Given the description of an element on the screen output the (x, y) to click on. 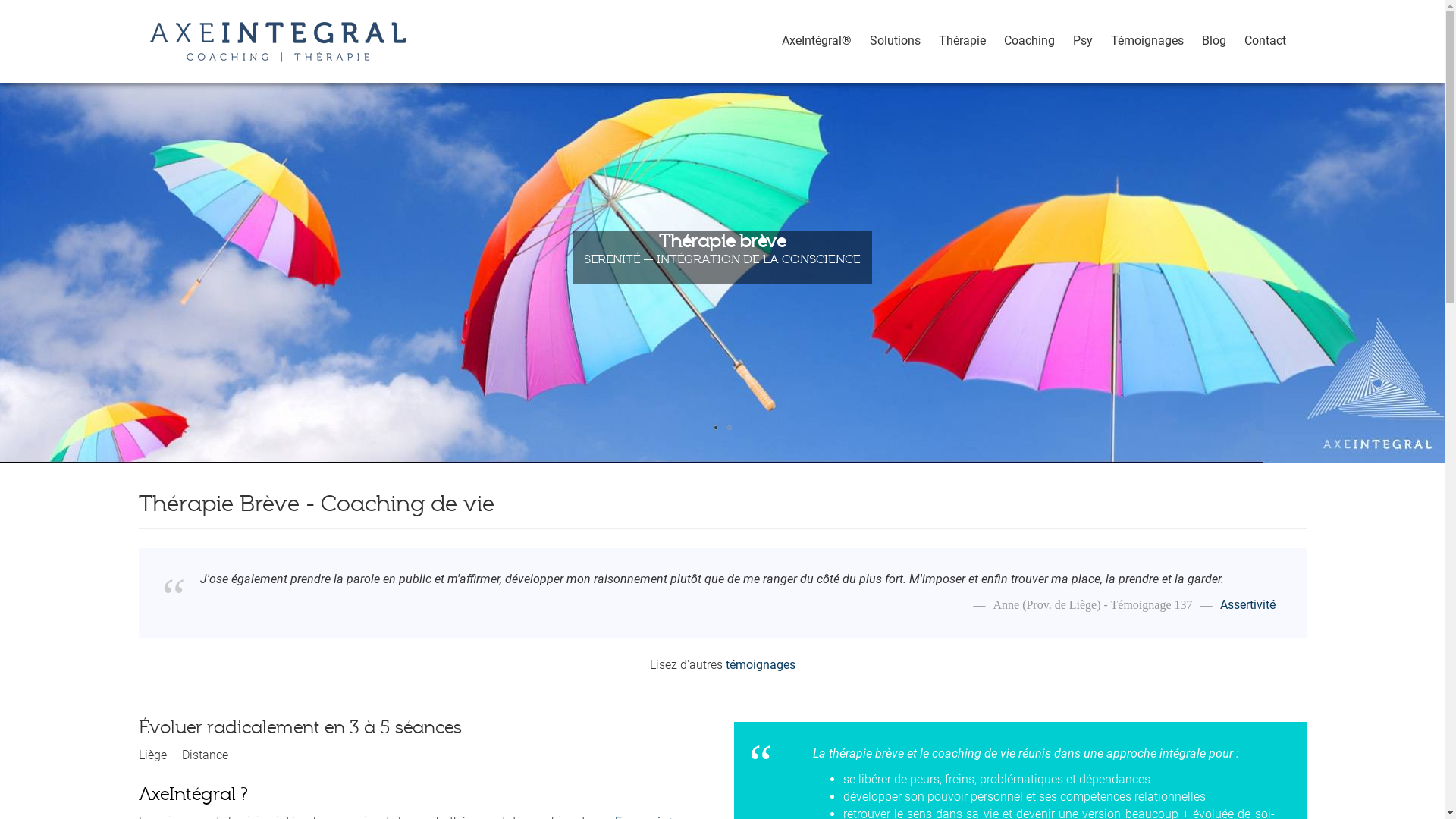
Contact Element type: text (1264, 38)
Blog Element type: text (1213, 38)
Psy Element type: text (1082, 38)
Passer le menu Element type: text (771, 14)
Coaching Element type: text (1029, 38)
Solutions Element type: text (894, 38)
